Given the description of an element on the screen output the (x, y) to click on. 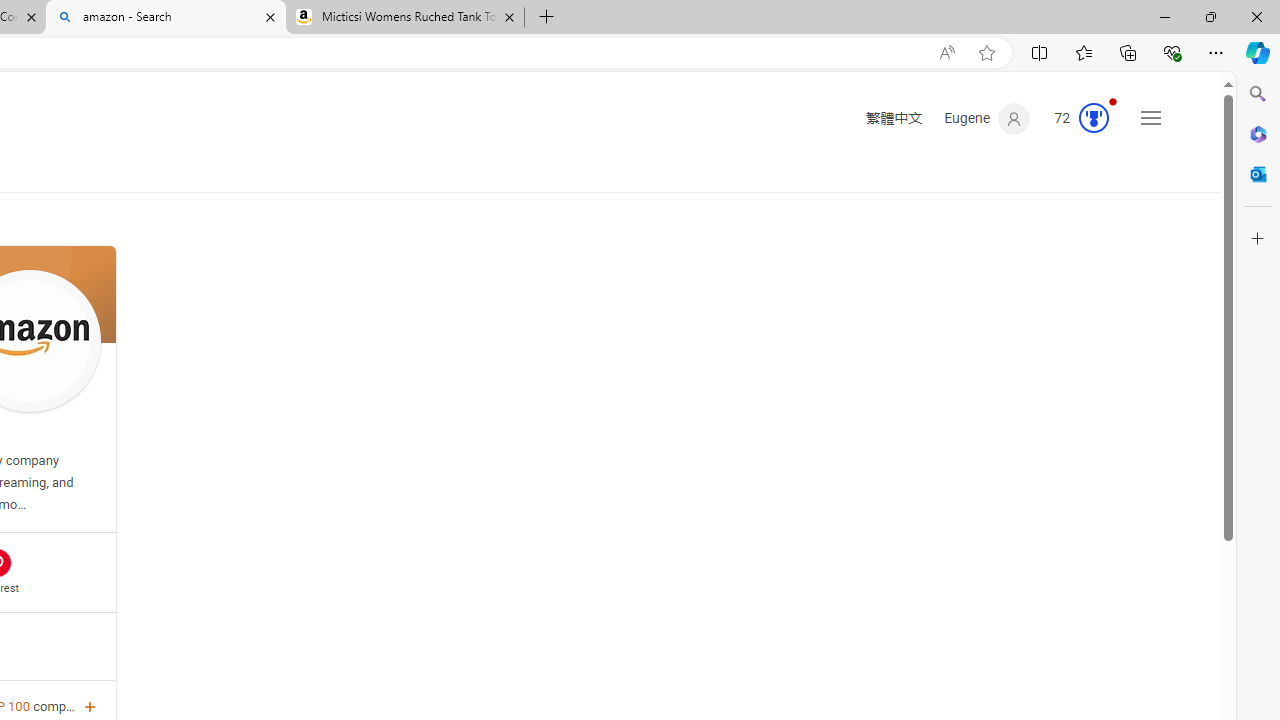
Outlook (1258, 174)
AutomationID: serp_medal_svg (1093, 117)
amazon - Search (166, 17)
Eugene (987, 119)
AutomationID: rh_meter (1093, 117)
Microsoft Rewards 72 (1075, 119)
Animation (1112, 101)
